Given the description of an element on the screen output the (x, y) to click on. 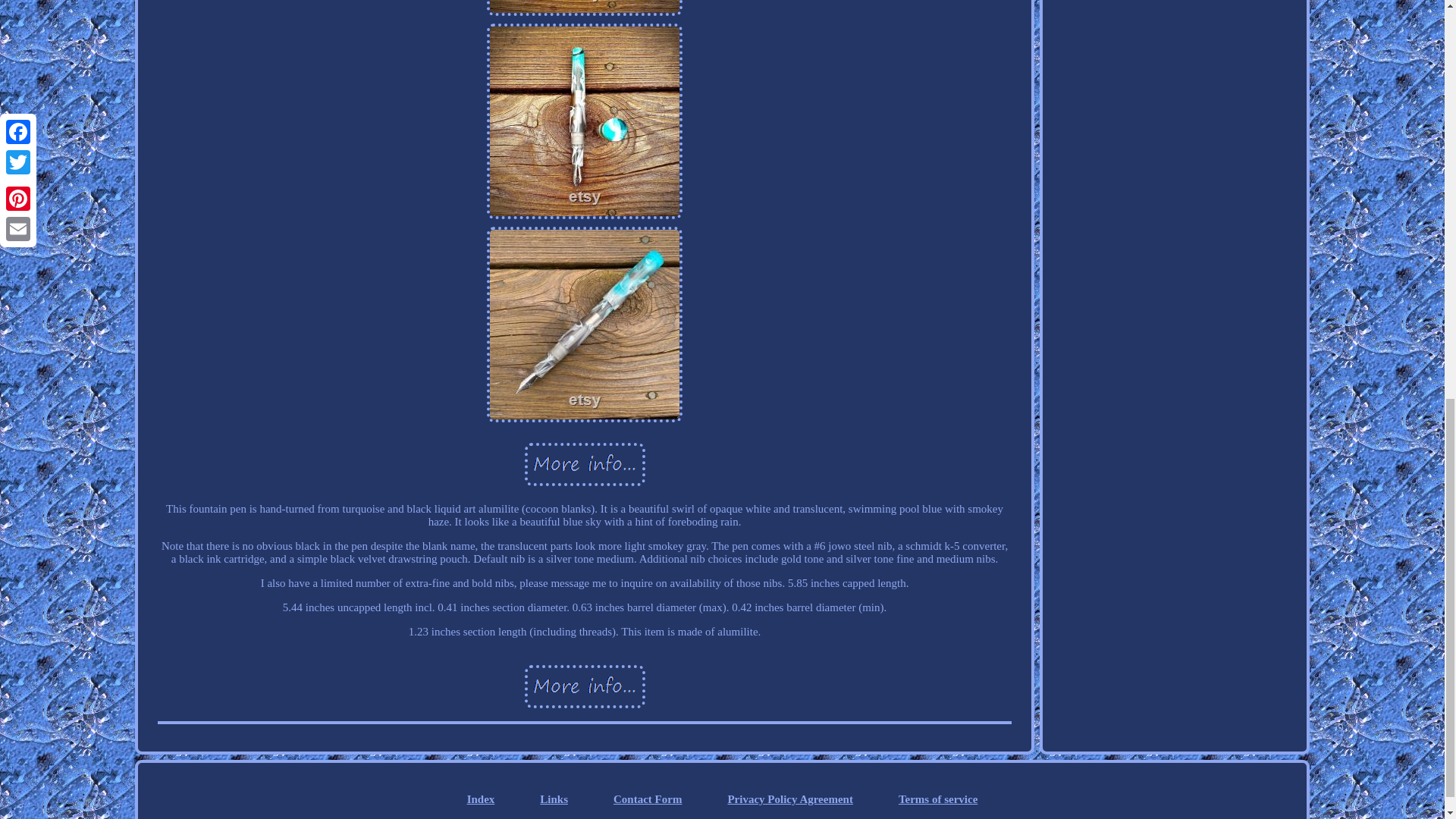
Bespoke Handmade Fountain Pen Turquoise and Black Liquid Art (584, 463)
Bespoke Handmade Fountain Pen Turquoise and Black Liquid Art (584, 686)
Bespoke Handmade Fountain Pen Turquoise and Black Liquid Art (584, 7)
Bespoke Handmade Fountain Pen Turquoise and Black Liquid Art (584, 121)
Bespoke Handmade Fountain Pen Turquoise and Black Liquid Art (584, 324)
